Given the description of an element on the screen output the (x, y) to click on. 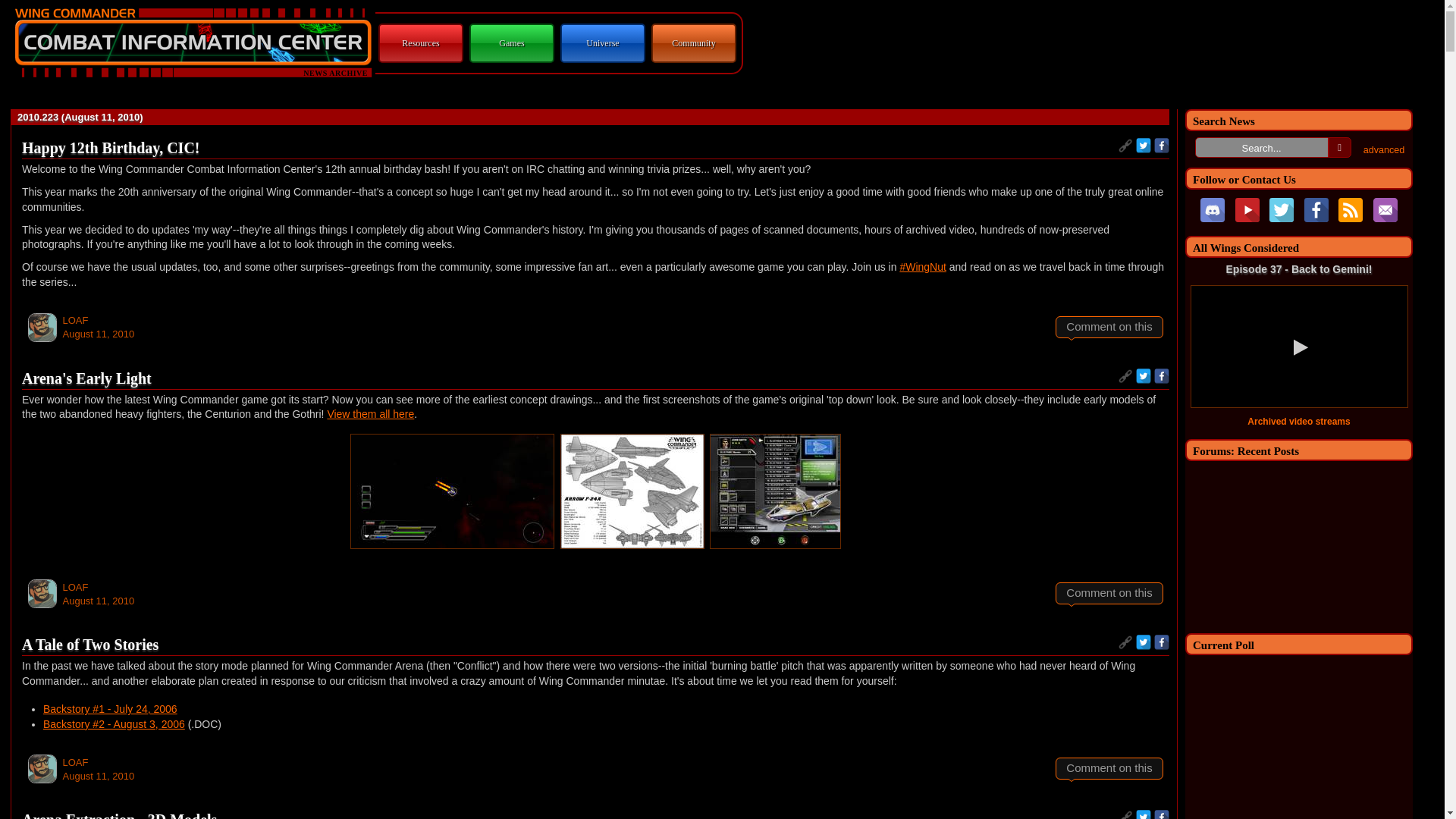
Share on Twitter (1143, 642)
Share on Facebook (1161, 642)
Share on Facebook (1161, 145)
Share on Facebook (1161, 814)
Share on Twitter (1143, 814)
Games (511, 42)
Resources (420, 42)
Share on Facebook (1161, 376)
Share on Twitter (1143, 145)
Share on Twitter (1143, 376)
